Given the description of an element on the screen output the (x, y) to click on. 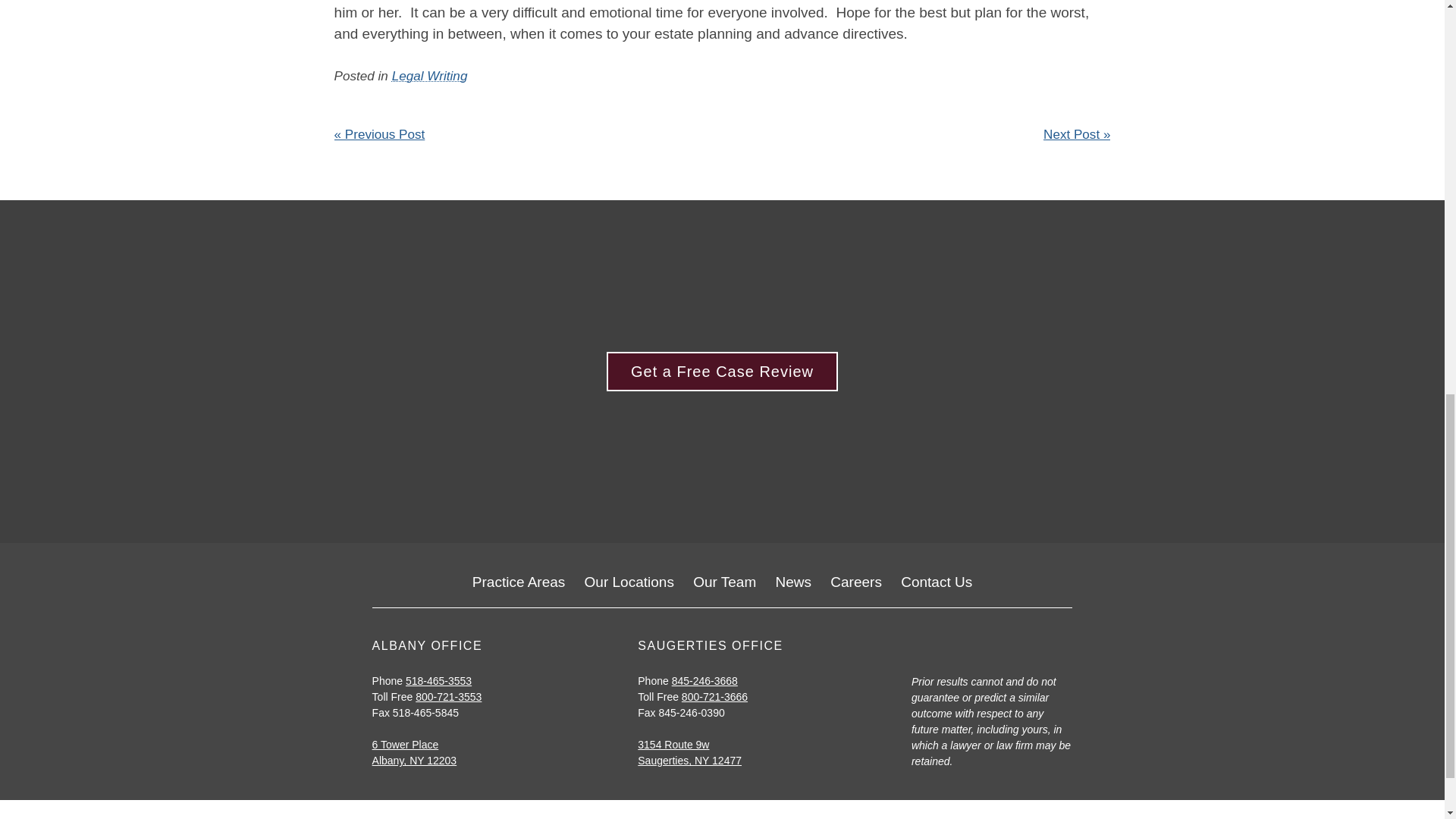
Opens in a new window (673, 744)
Contact Us (936, 582)
Our Team (724, 582)
Practice Areas (518, 582)
Careers (855, 582)
Legal Writing (429, 75)
Get a Free Case Review (722, 371)
Opens in a new window (405, 744)
Our Locations (629, 582)
News (794, 582)
